Given the description of an element on the screen output the (x, y) to click on. 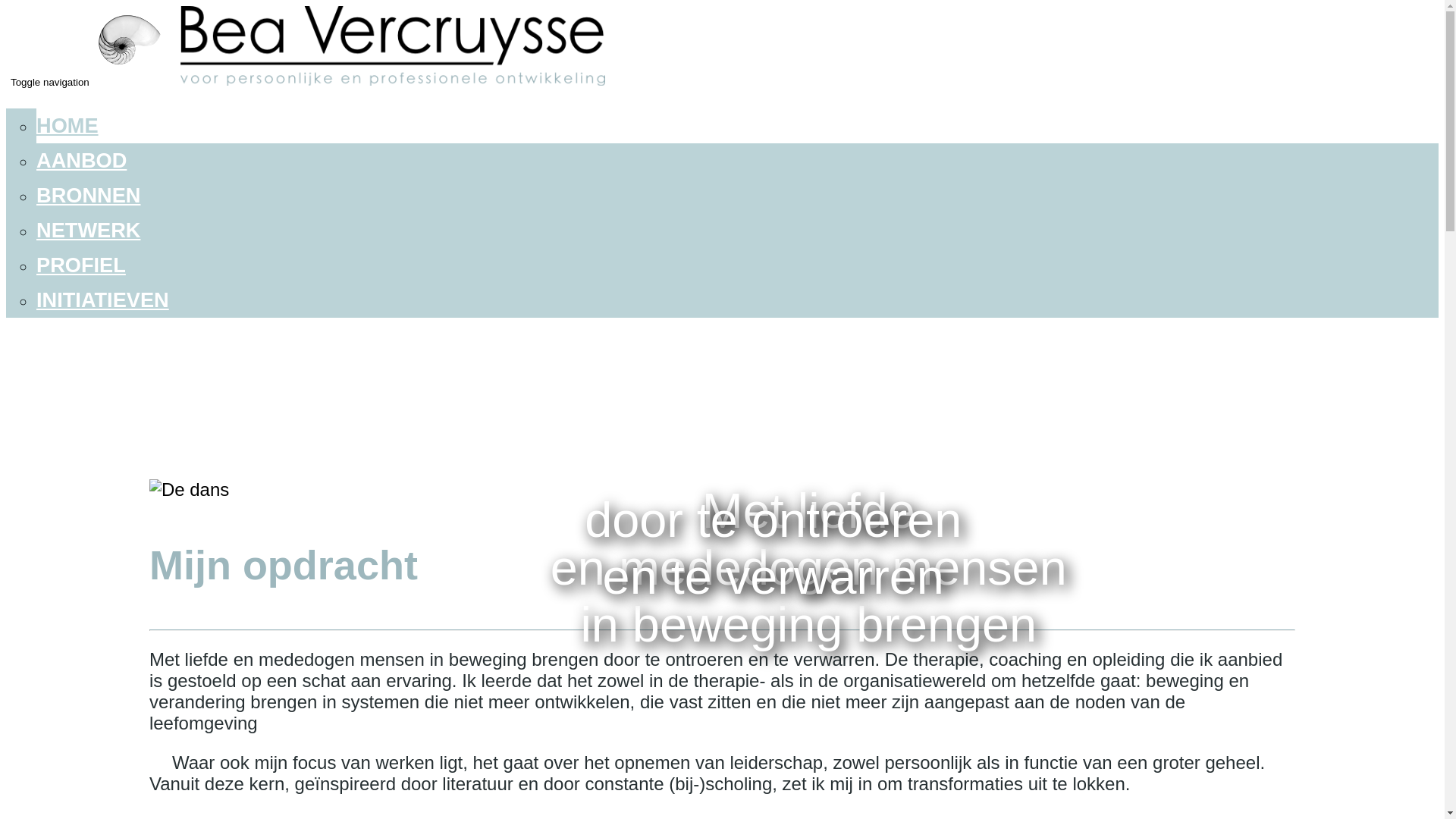
BRONNEN Element type: text (88, 195)
NETWERK Element type: text (88, 229)
Toggle navigation Element type: text (50, 81)
AANBOD Element type: text (81, 160)
INITIATIEVEN Element type: text (102, 299)
HOME Element type: text (67, 125)
PROFIEL Element type: text (80, 264)
